Given the description of an element on the screen output the (x, y) to click on. 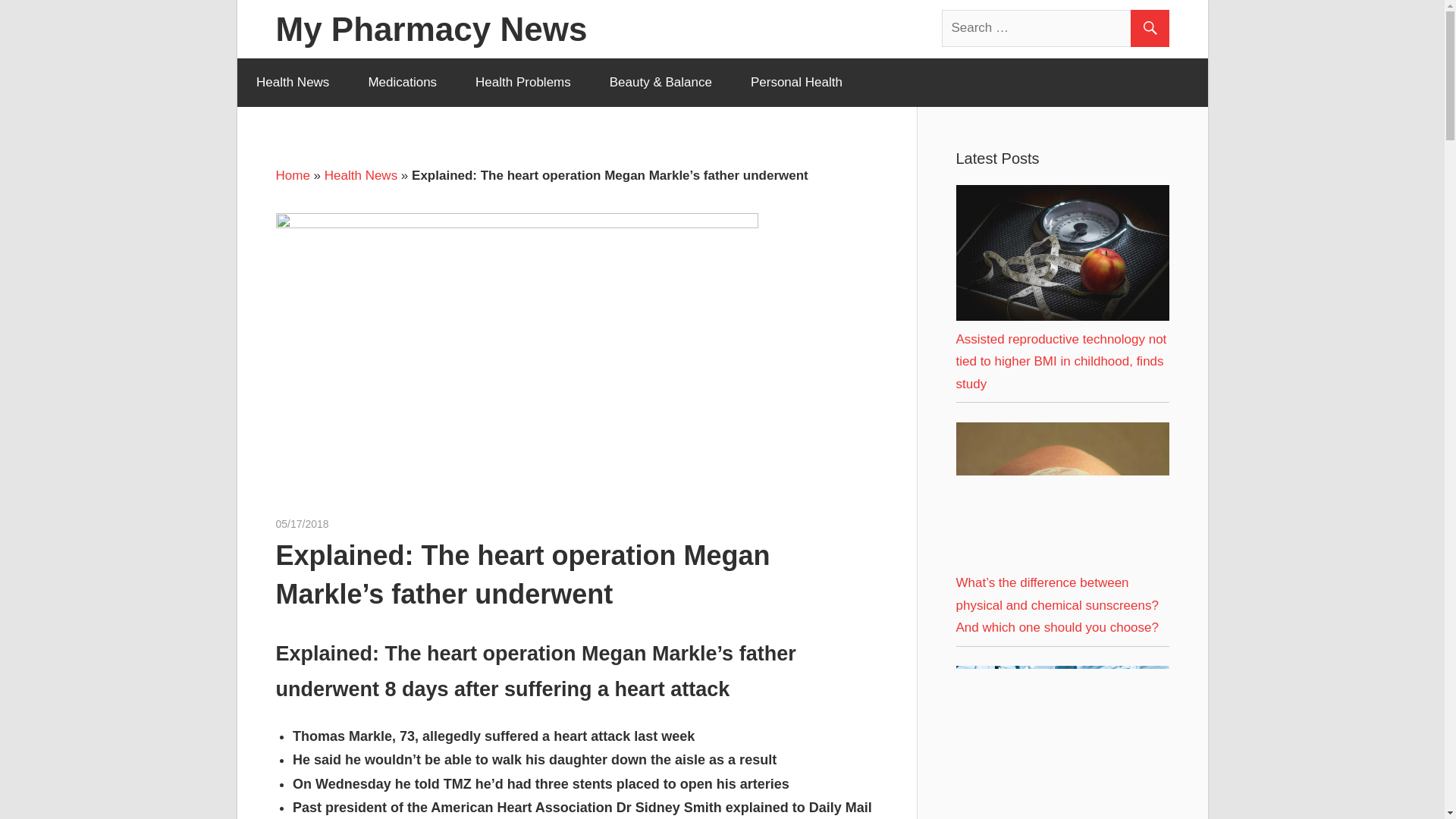
14:32 (302, 522)
Search for: (1055, 27)
Health News (360, 175)
Health Problems (524, 82)
Health News (291, 82)
Medications (403, 82)
Personal Health (795, 82)
Home (293, 175)
My Pharmacy News (432, 28)
